Given the description of an element on the screen output the (x, y) to click on. 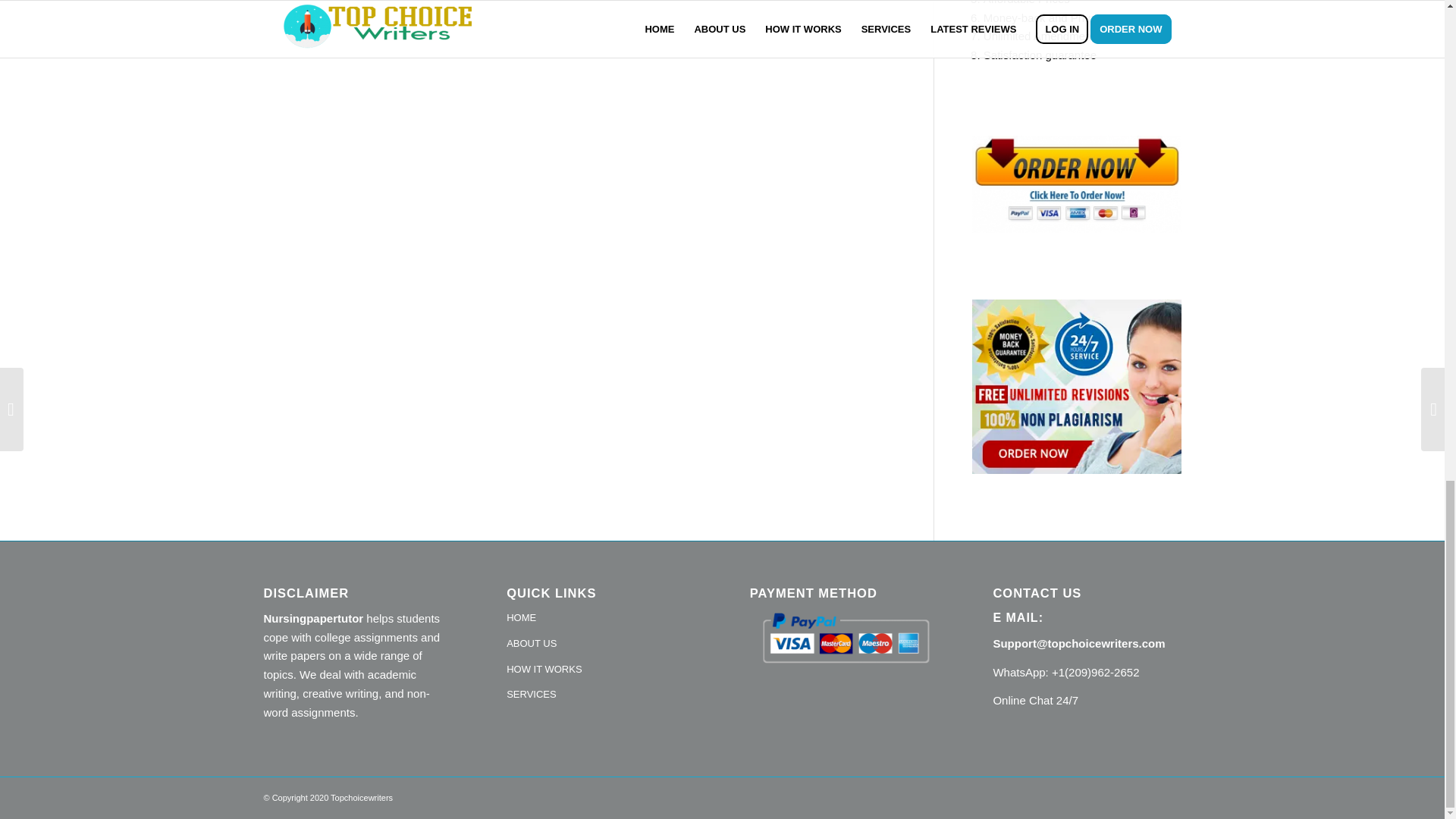
SERVICES (600, 695)
ABOUT US (600, 644)
HOW IT WORKS (600, 670)
HOME (600, 618)
